Given the description of an element on the screen output the (x, y) to click on. 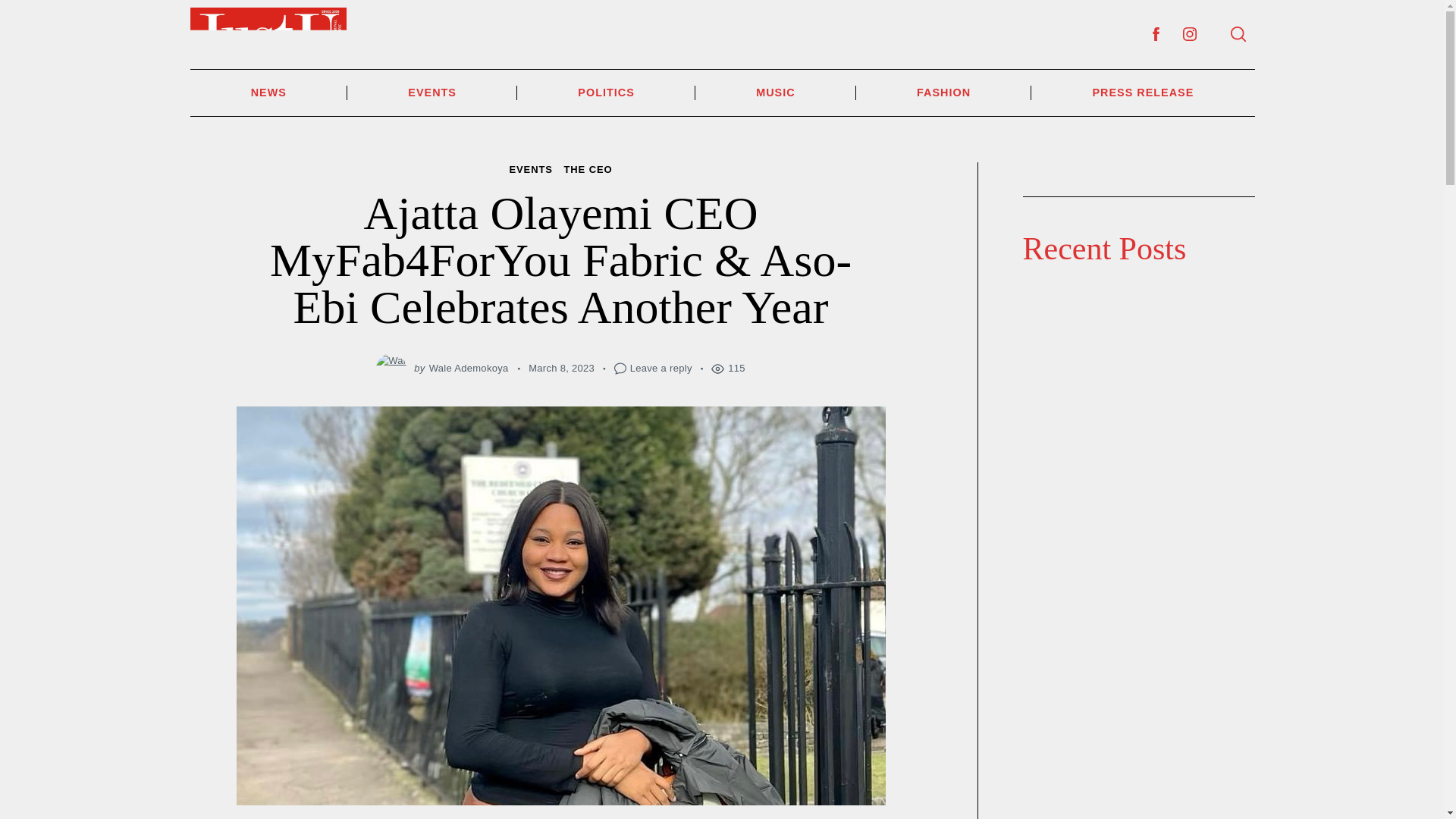
PRESS RELEASE (1141, 92)
Leave a reply (661, 367)
FASHION (943, 92)
EVENTS (431, 92)
THE CEO (587, 170)
NEWS (268, 92)
EVENTS (529, 170)
POLITICS (605, 92)
MUSIC (775, 92)
Wale Ademokoya (468, 367)
